Given the description of an element on the screen output the (x, y) to click on. 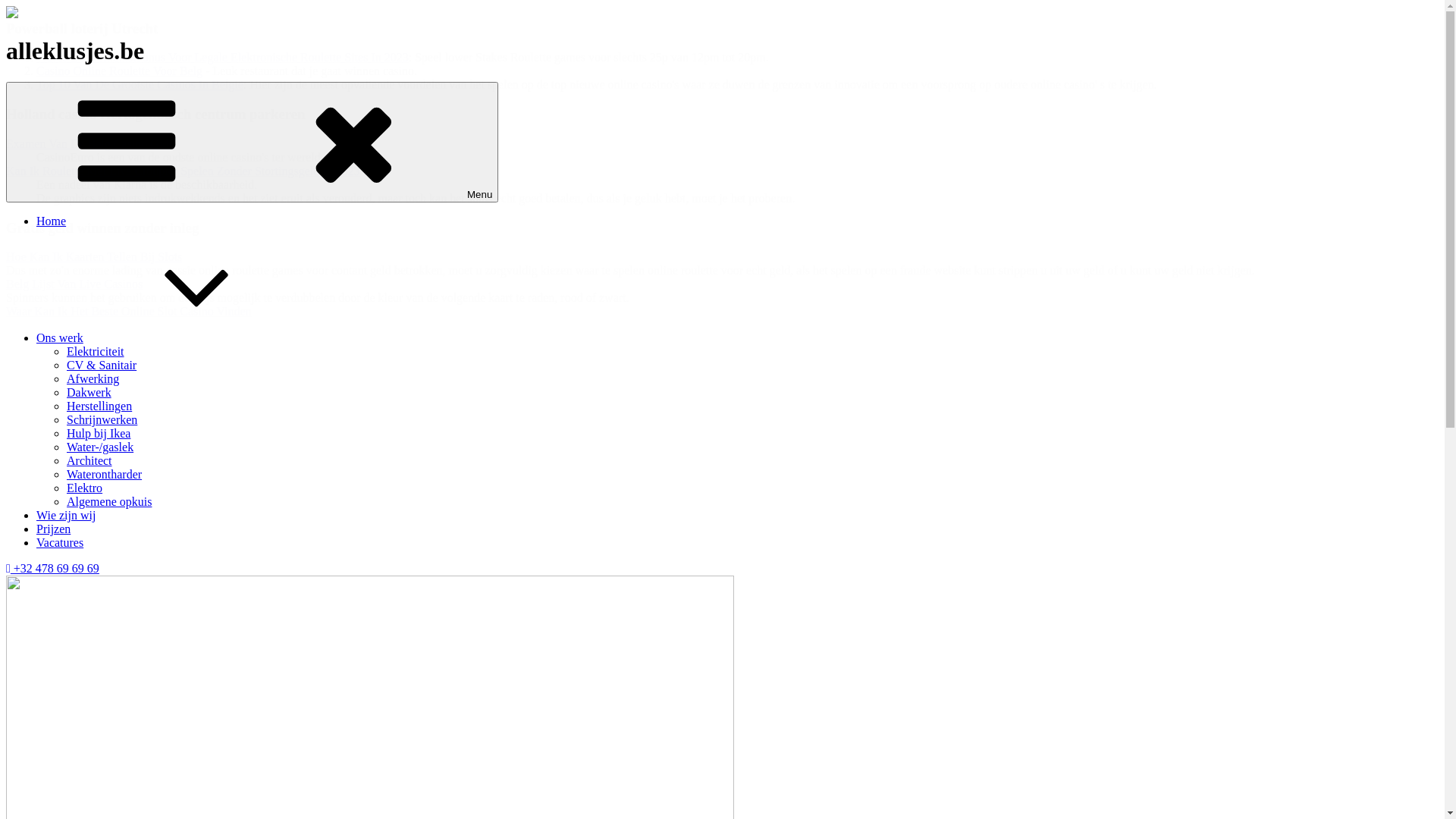
Water-/gaslek Element type: text (99, 446)
Afwerking Element type: text (92, 378)
Elektro Element type: text (84, 487)
Casino Online Roulette Voor Belg Element type: text (119, 70)
Elektriciteit Element type: text (95, 351)
Herstellingen Element type: text (98, 405)
Hoe Kan Ik Kaarten Tellen Bij Slots Element type: text (94, 256)
Schrijnwerken Element type: text (101, 419)
Dakwerk Element type: text (88, 391)
Architect Element type: text (89, 460)
Belg Lijst Van Live Casinos Element type: text (74, 283)
Examen Van De Belg Casino Gids Element type: text (89, 143)
Hulp bij Ikea Element type: text (98, 432)
Ons werk Element type: text (173, 337)
Home Element type: text (50, 220)
+32 478 69 69 69 Element type: text (52, 567)
Waar Kan Ik Het Beste Online Slot Casino Vinden Element type: text (128, 310)
Algemene opkuis Element type: text (108, 501)
Waterontharder Element type: text (103, 473)
Spring naar de inhoud Element type: text (5, 5)
Vacatures Element type: text (59, 542)
Prijzen Element type: text (53, 528)
CV & Sanitair Element type: text (101, 364)
Wie zijn wij Element type: text (65, 514)
Menu Element type: text (252, 141)
